Given the description of an element on the screen output the (x, y) to click on. 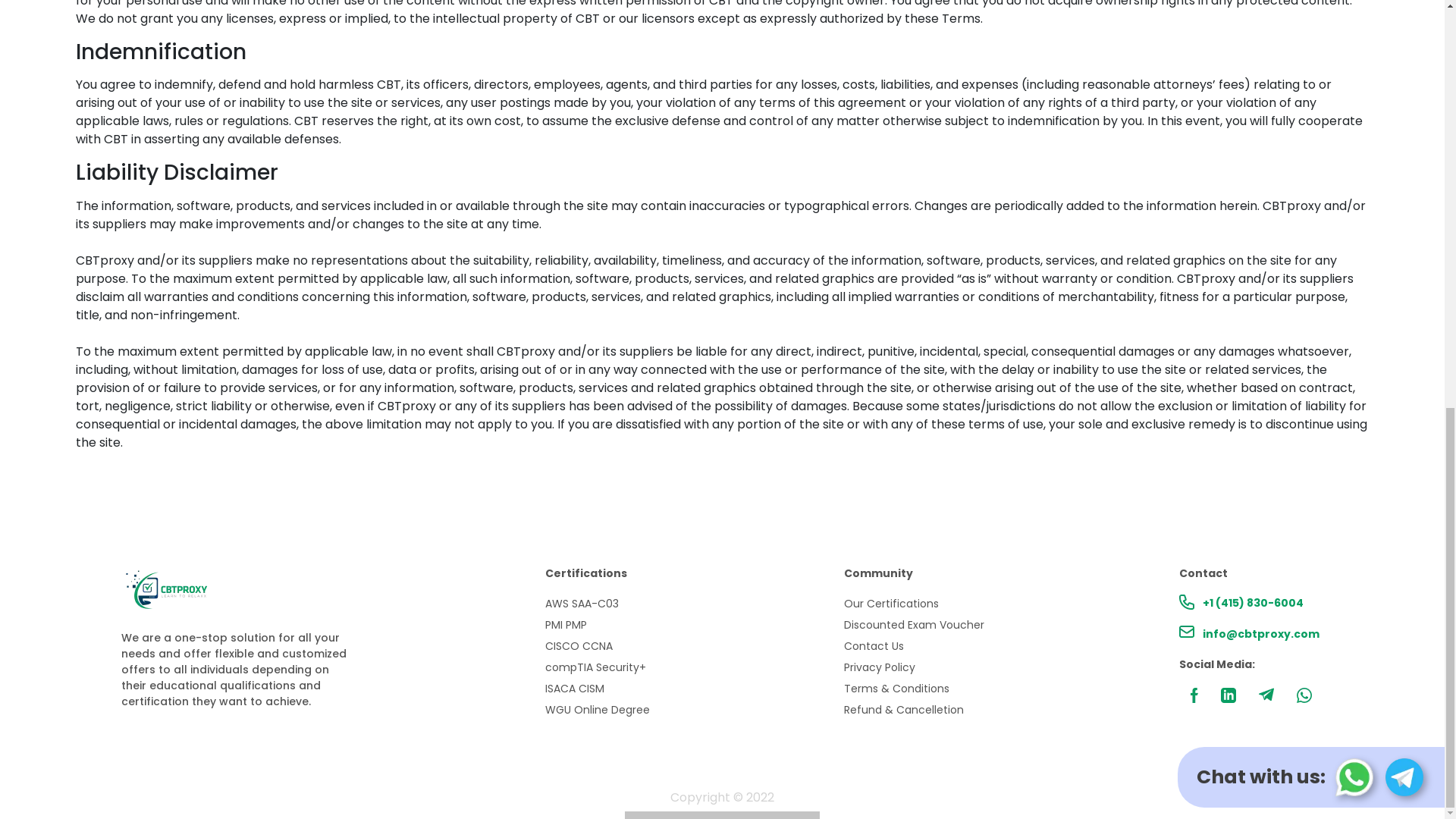
CISCO CCNA (596, 645)
ISACA CISM (596, 688)
Privacy Policy (914, 667)
Discounted Exam Voucher (914, 624)
AWS SAA-C03 (596, 603)
Contact Us (914, 645)
Our Certifications (914, 603)
WGU Online Degree (596, 709)
PMI PMP (596, 624)
